Given the description of an element on the screen output the (x, y) to click on. 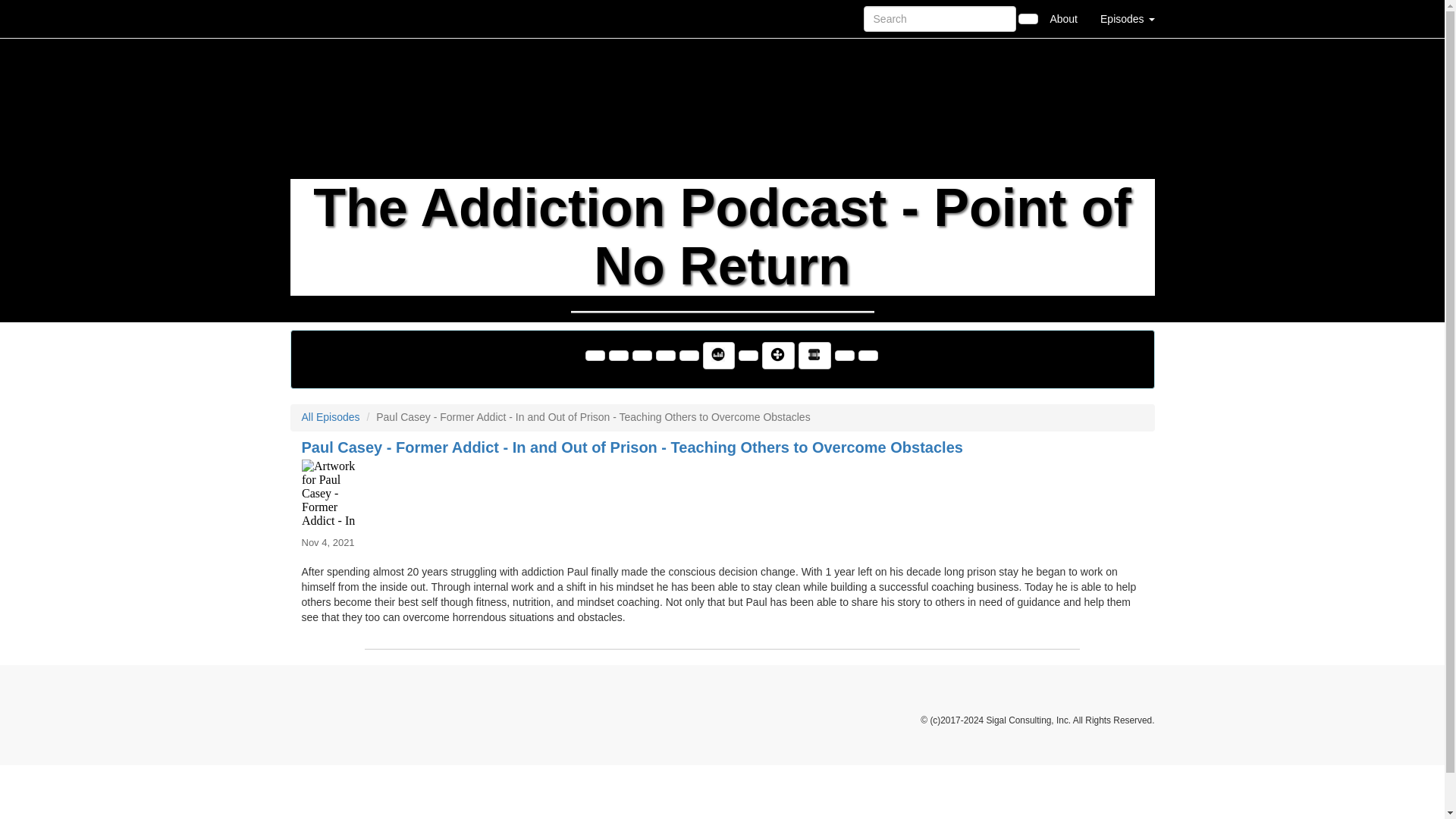
Episodes (1127, 18)
Home Page (320, 18)
About (1063, 18)
